Given the description of an element on the screen output the (x, y) to click on. 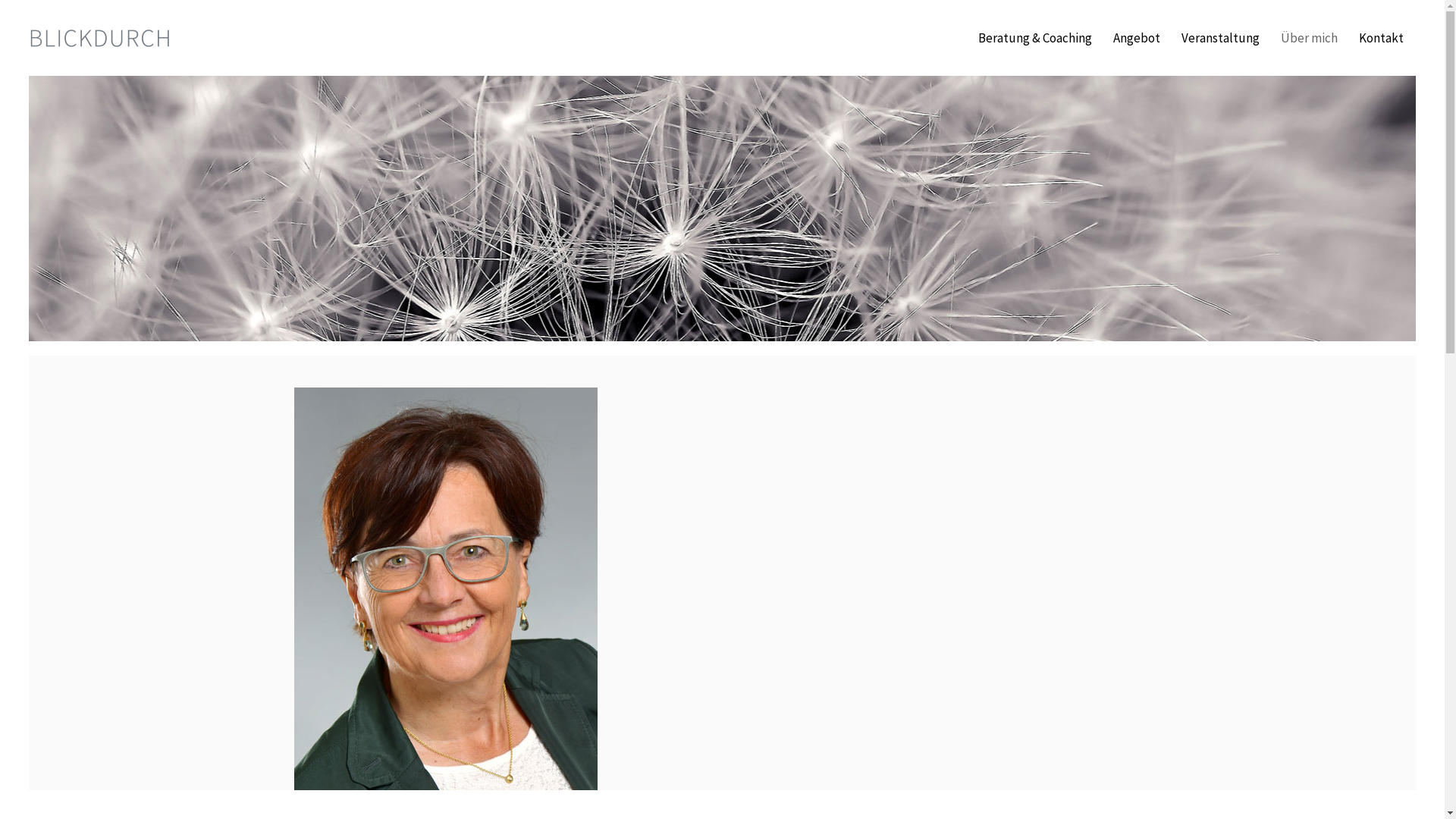
Angebot Element type: text (1136, 37)
Beratung & Coaching Element type: text (1034, 37)
Kontakt Element type: text (1381, 37)
Veranstaltung Element type: text (1220, 37)
